Given the description of an element on the screen output the (x, y) to click on. 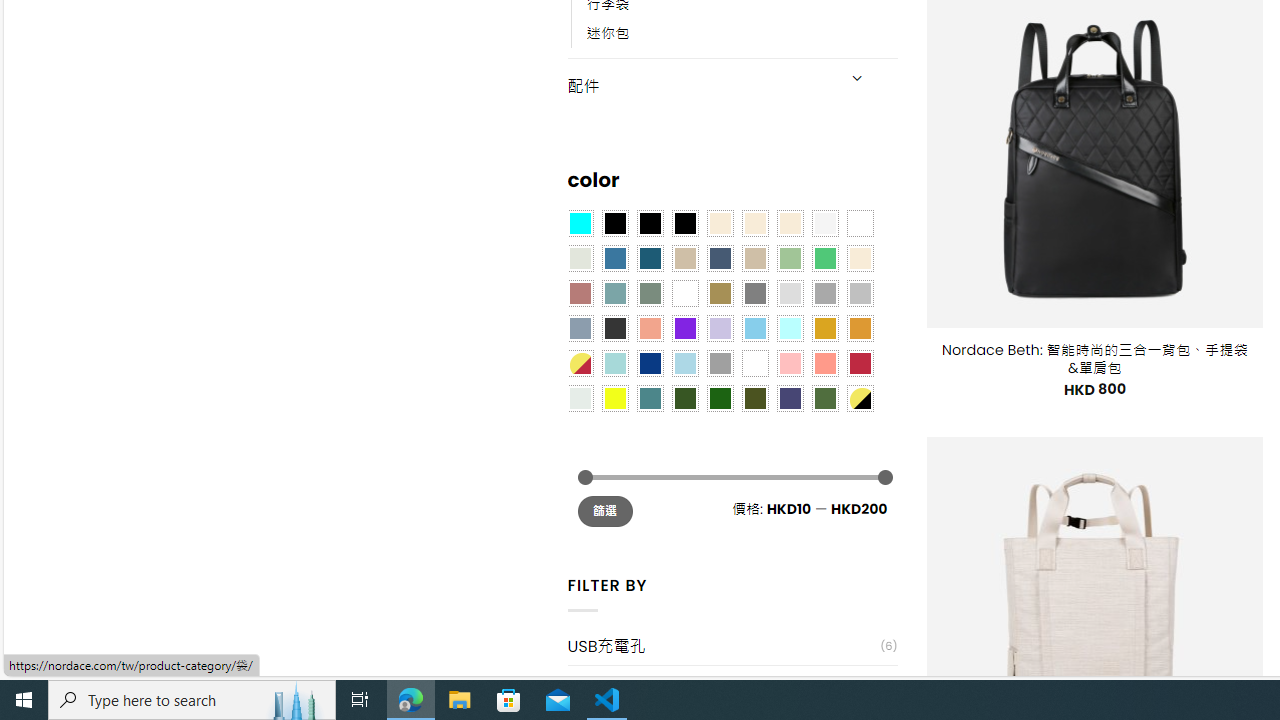
Cream (789, 223)
